Given the description of an element on the screen output the (x, y) to click on. 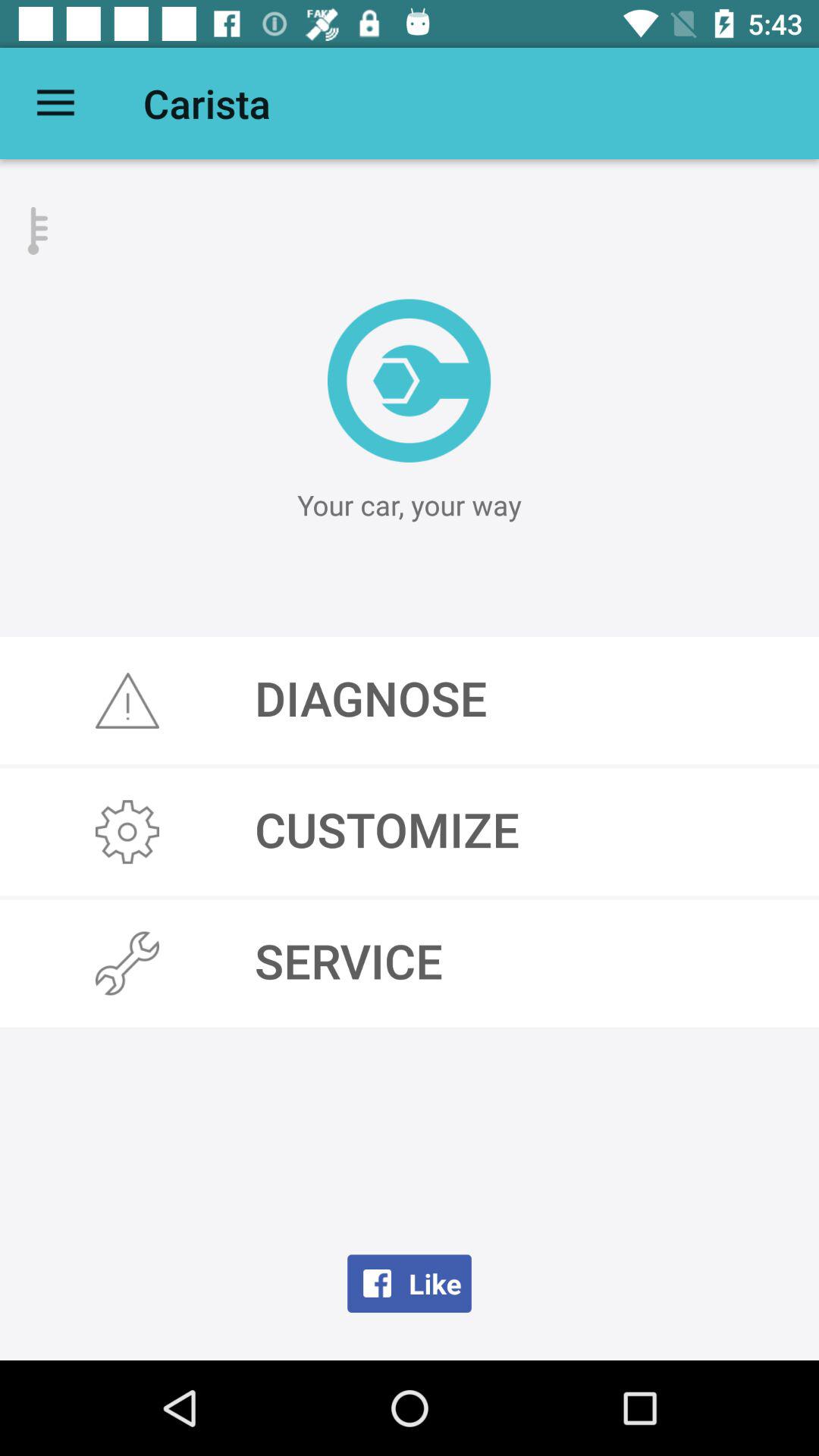
open item below the diagnose item (409, 831)
